Given the description of an element on the screen output the (x, y) to click on. 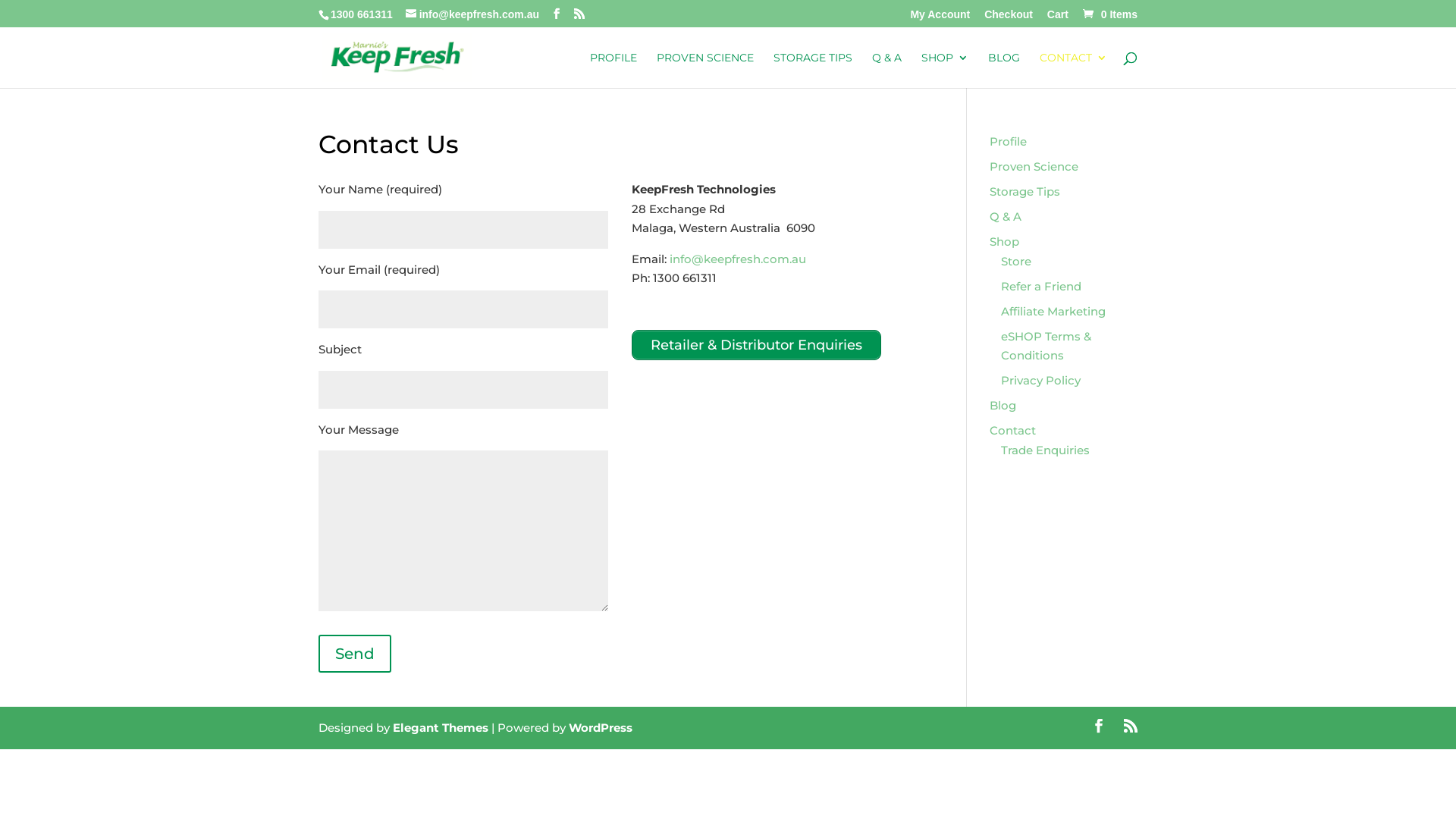
Affiliate Marketing Element type: text (1053, 310)
eSHOP Terms & Conditions Element type: text (1046, 346)
info@keepfresh.com.au Element type: text (472, 13)
Retailer & Distributor Enquiries Element type: text (756, 344)
Privacy Policy Element type: text (1040, 380)
Q & A Element type: text (1005, 216)
Blog Element type: text (1002, 405)
CONTACT Element type: text (1073, 69)
Elegant Themes Element type: text (440, 727)
Store Element type: text (1016, 260)
0 Items Element type: text (1108, 13)
STORAGE TIPS Element type: text (812, 69)
My Account Element type: text (939, 18)
Send Element type: text (354, 652)
Checkout Element type: text (1008, 18)
Q & A Element type: text (886, 69)
Proven Science Element type: text (1033, 166)
PROVEN SCIENCE Element type: text (704, 69)
Storage Tips Element type: text (1024, 191)
Contact Element type: text (1012, 430)
Profile Element type: text (1007, 141)
BLOG Element type: text (1003, 69)
Refer a Friend Element type: text (1041, 286)
PROFILE Element type: text (613, 69)
WordPress Element type: text (600, 727)
Cart Element type: text (1057, 18)
Trade Enquiries Element type: text (1045, 449)
info@keepfresh.com.au Element type: text (737, 258)
SHOP Element type: text (944, 69)
Shop Element type: text (1004, 241)
